Given the description of an element on the screen output the (x, y) to click on. 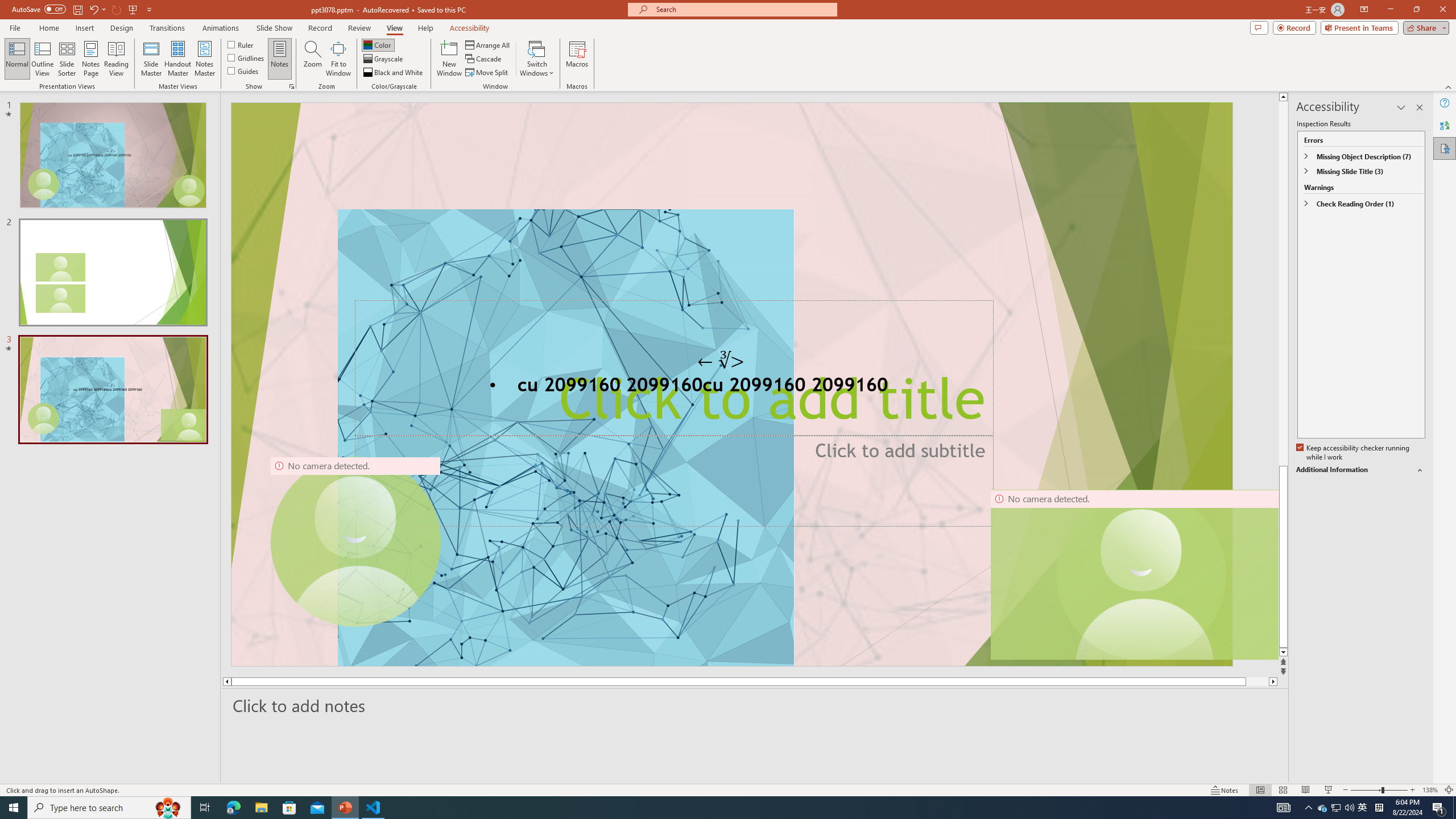
Gridlines (246, 56)
Handout Master (177, 58)
Black and White (393, 72)
Notes (279, 58)
Guides (243, 69)
